Given the description of an element on the screen output the (x, y) to click on. 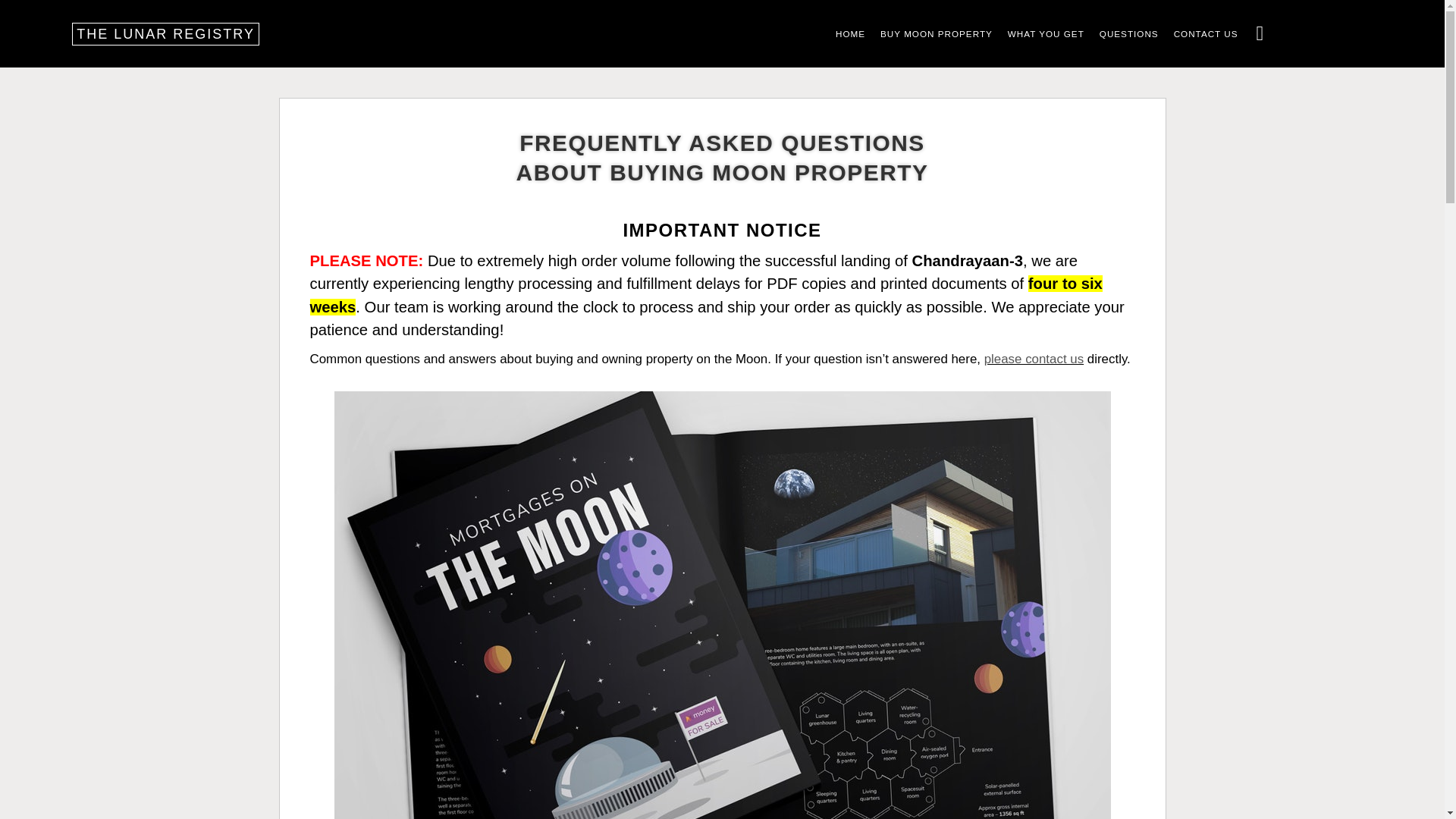
CONTACT US (1206, 33)
BUY MOON PROPERTY (936, 33)
THE LUNAR REGISTRY (165, 33)
QUESTIONS (1128, 33)
WHAT YOU GET (1045, 33)
please contact us (1033, 359)
